Given the description of an element on the screen output the (x, y) to click on. 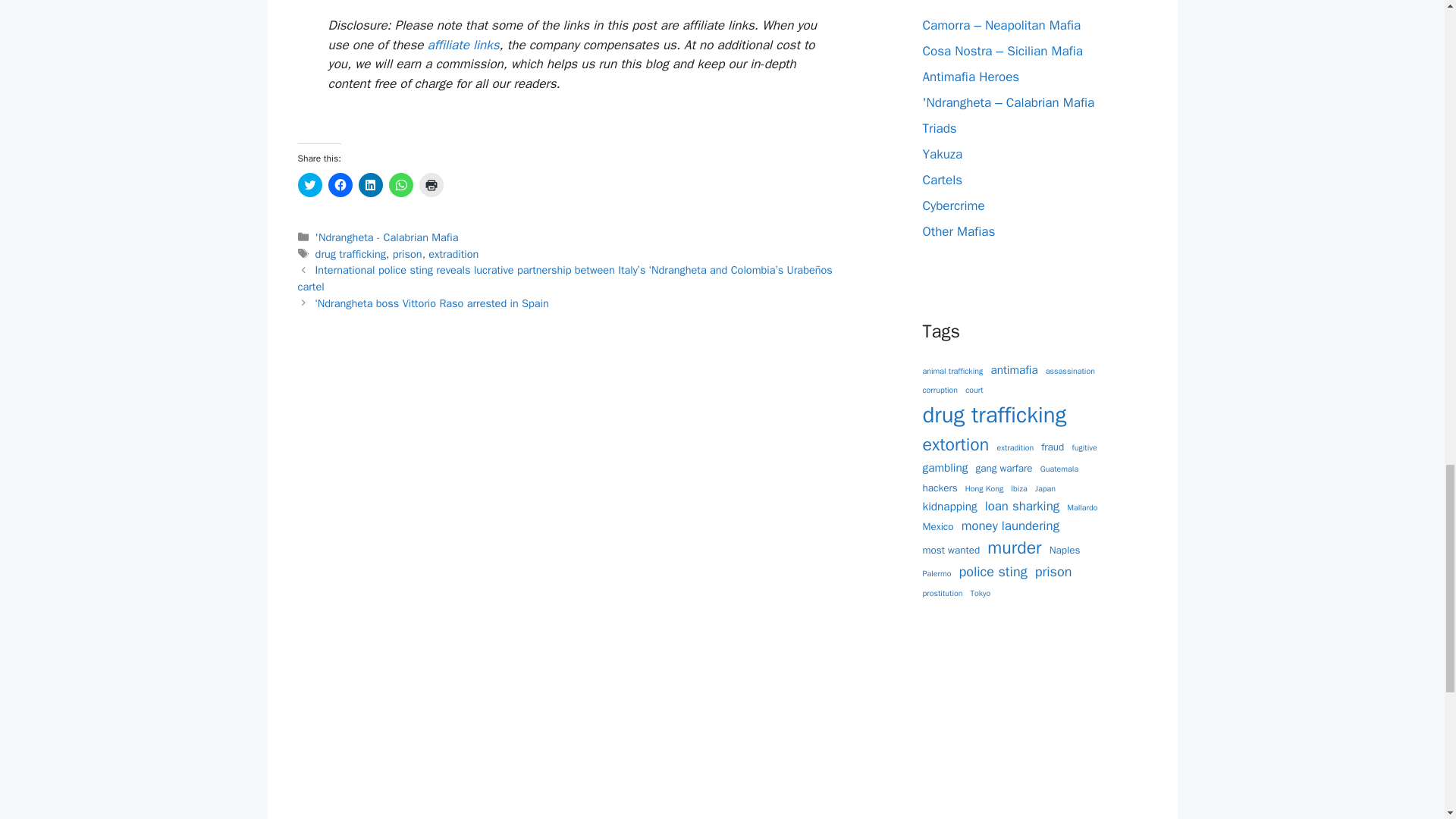
Click to share on Facebook (339, 184)
Click to print (430, 184)
prison (407, 254)
'Ndrangheta - Calabrian Mafia (386, 237)
Click to share on Twitter (309, 184)
drug trafficking (350, 254)
extradition (453, 254)
affiliate links (463, 44)
Click to share on WhatsApp (400, 184)
Click to share on LinkedIn (369, 184)
